Given the description of an element on the screen output the (x, y) to click on. 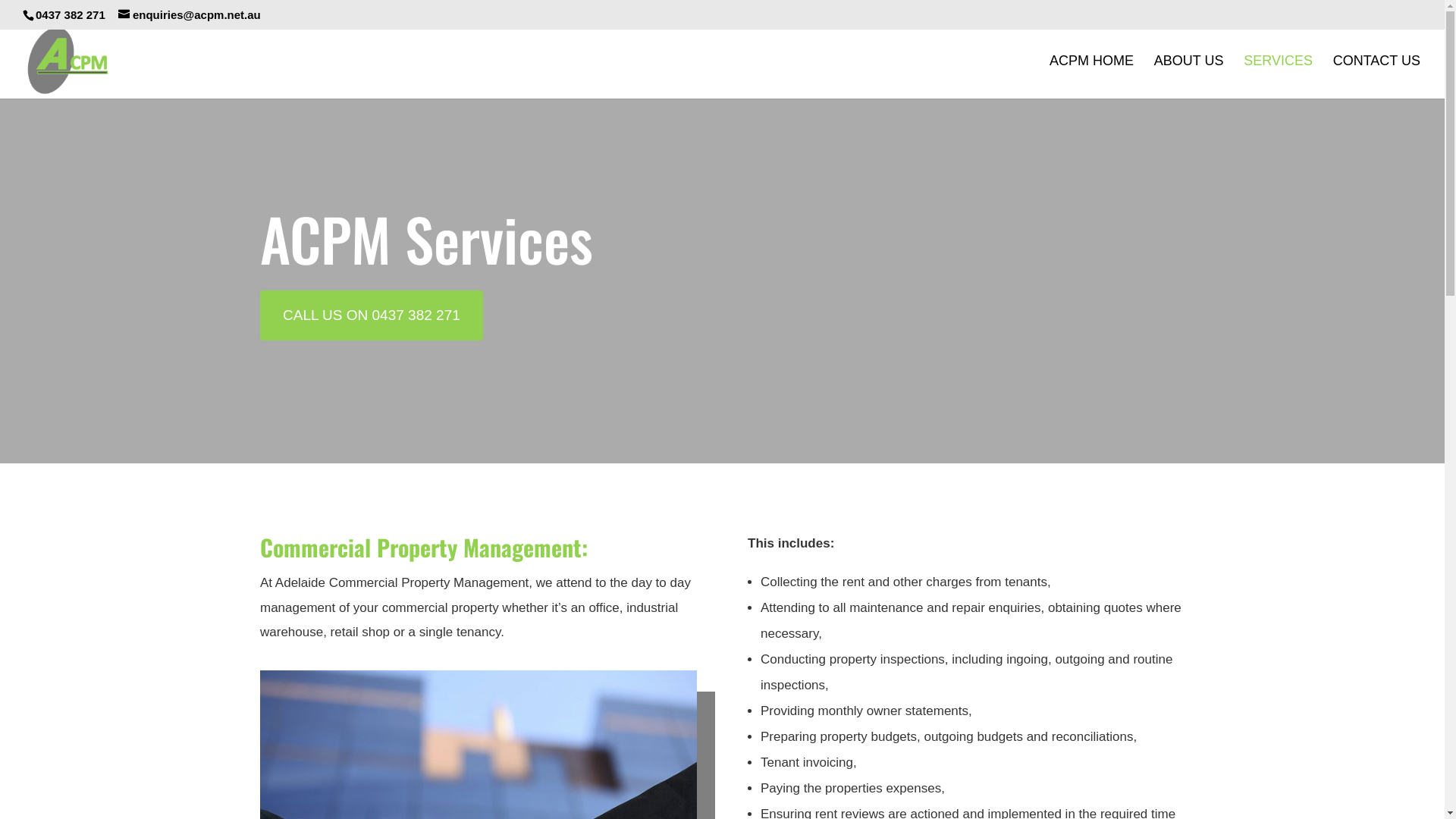
enquiries@acpm.net.au Element type: text (189, 14)
ABOUT US Element type: text (1188, 76)
CONTACT US Element type: text (1376, 76)
CALL US ON 0437 382 271 Element type: text (371, 315)
ACPM HOME Element type: text (1091, 76)
SERVICES Element type: text (1277, 76)
